Given the description of an element on the screen output the (x, y) to click on. 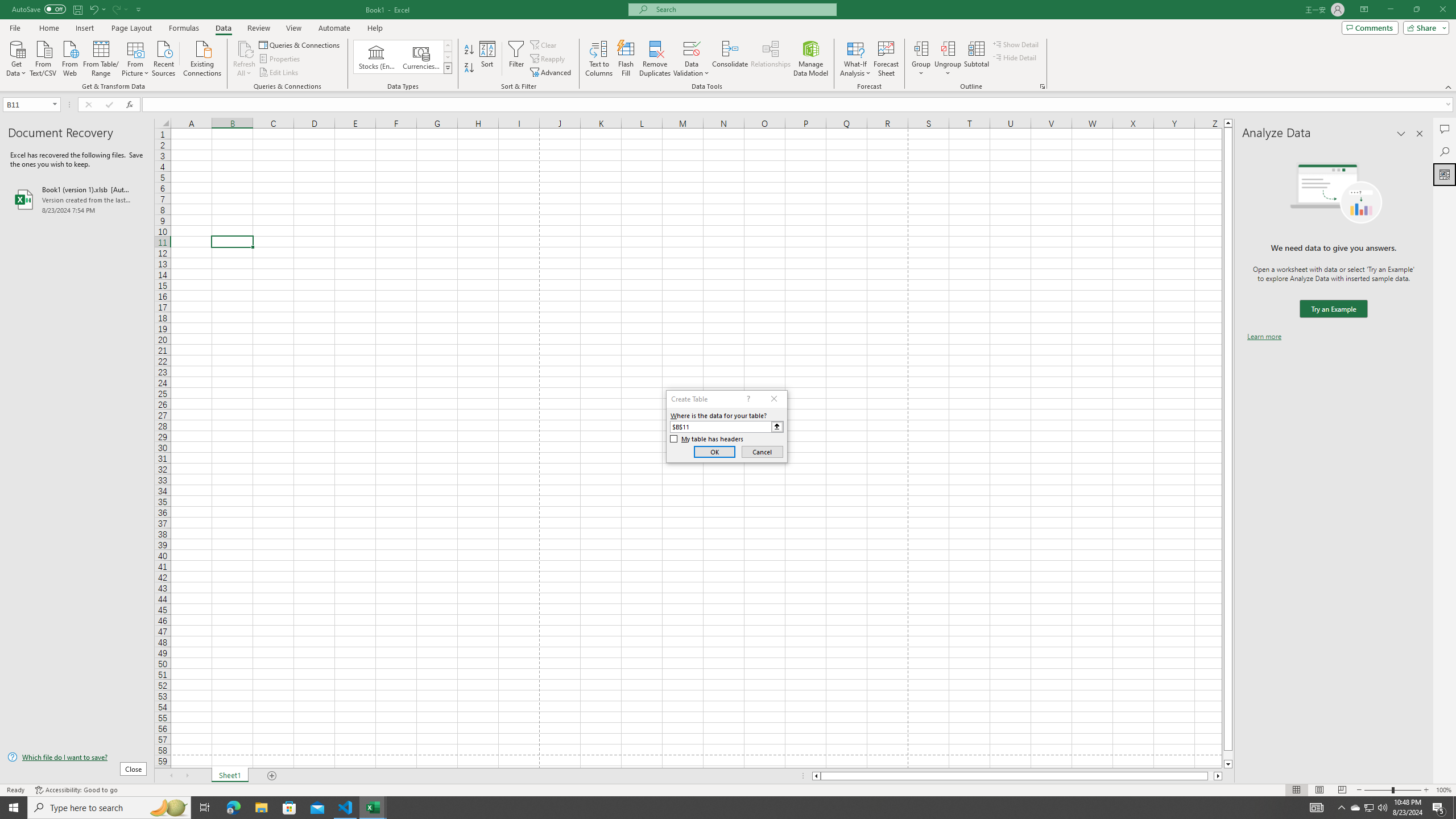
Analyze Data (1444, 173)
Advanced... (551, 72)
Class: NetUIImage (447, 68)
Ungroup... (947, 48)
Relationships (770, 58)
Clear (544, 44)
From Text/CSV (43, 57)
Which file do I want to save? (77, 757)
Row up (448, 45)
